Given the description of an element on the screen output the (x, y) to click on. 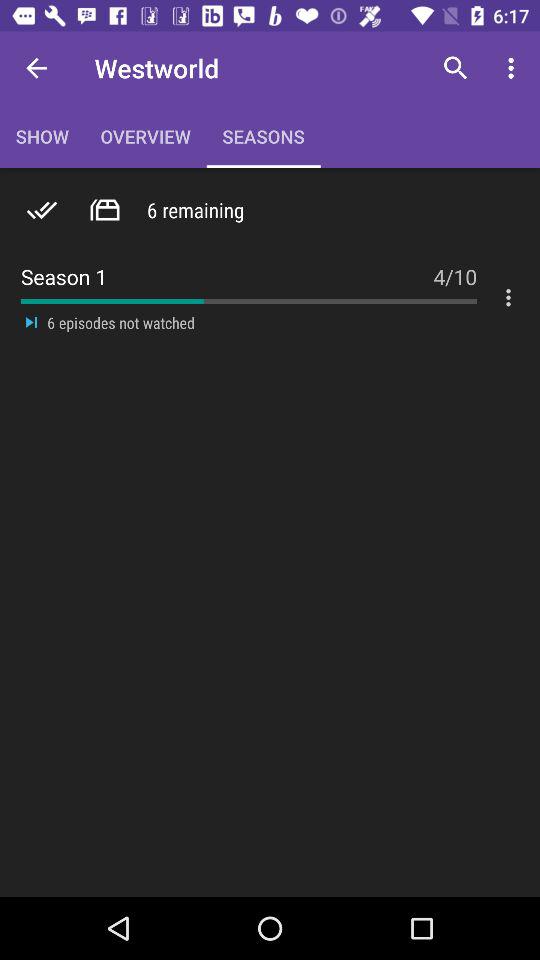
turn on item to the right of seasons icon (455, 67)
